Given the description of an element on the screen output the (x, y) to click on. 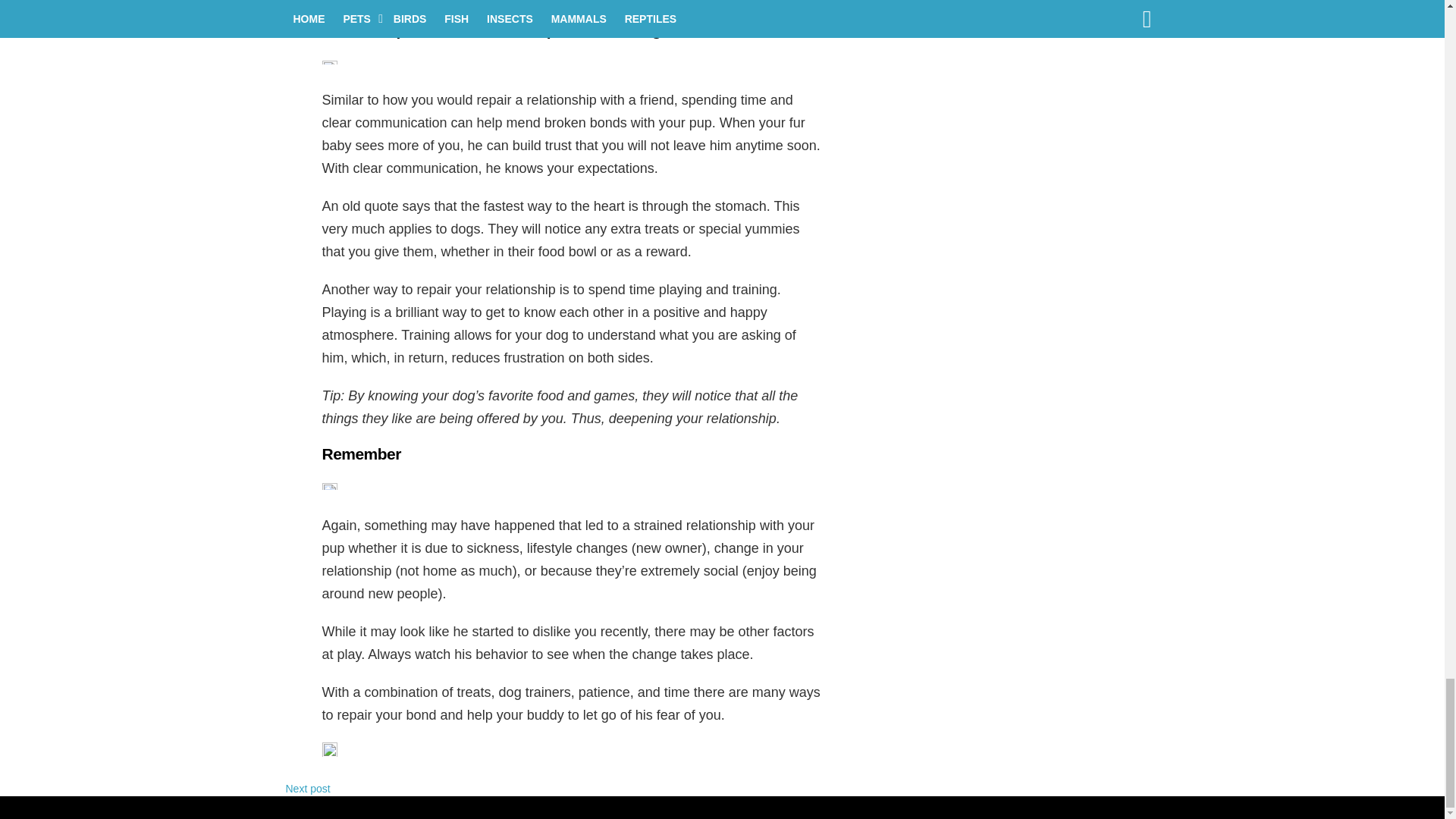
Next post (307, 788)
